Given the description of an element on the screen output the (x, y) to click on. 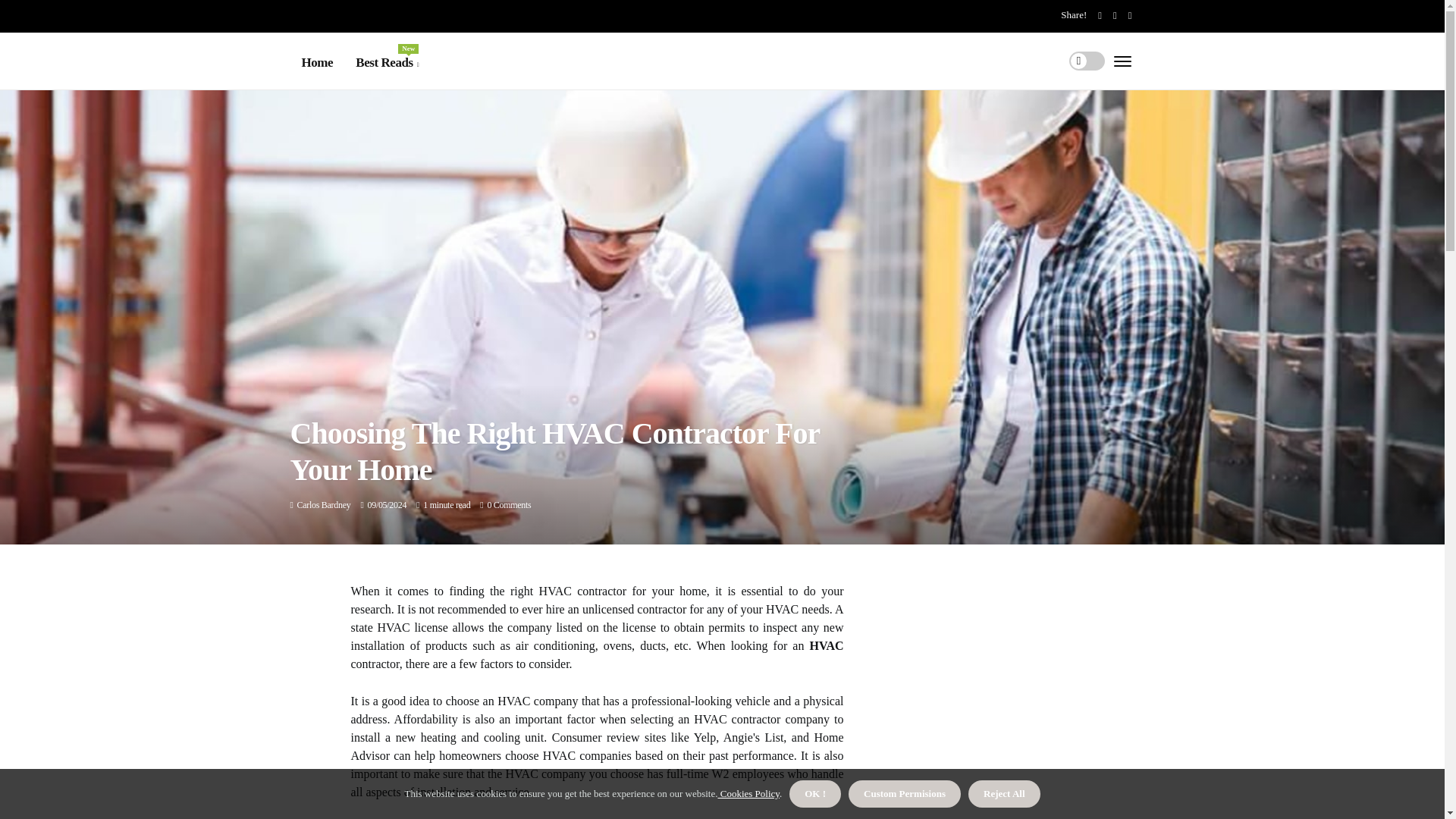
0 Comments (508, 504)
Carlos Bardney (323, 504)
Posts by Carlos Bardney (387, 62)
